Given the description of an element on the screen output the (x, y) to click on. 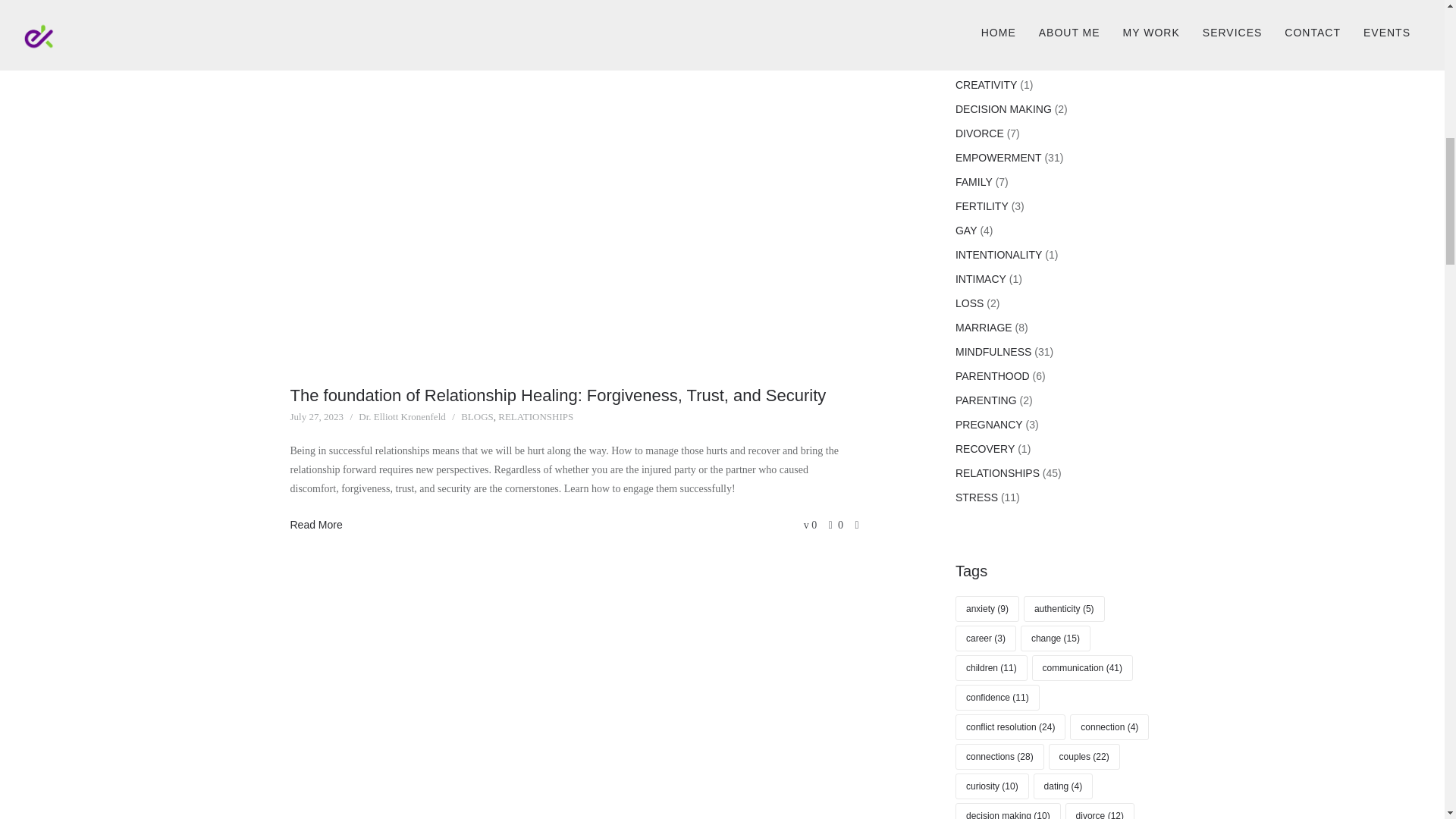
Dr. Elliott Kronenfeld (401, 416)
Posts by Dr. Elliott Kronenfeld (401, 416)
BLOGS (477, 416)
Read More (315, 524)
July 27, 2023 (315, 416)
RELATIONSHIPS (535, 416)
